Given the description of an element on the screen output the (x, y) to click on. 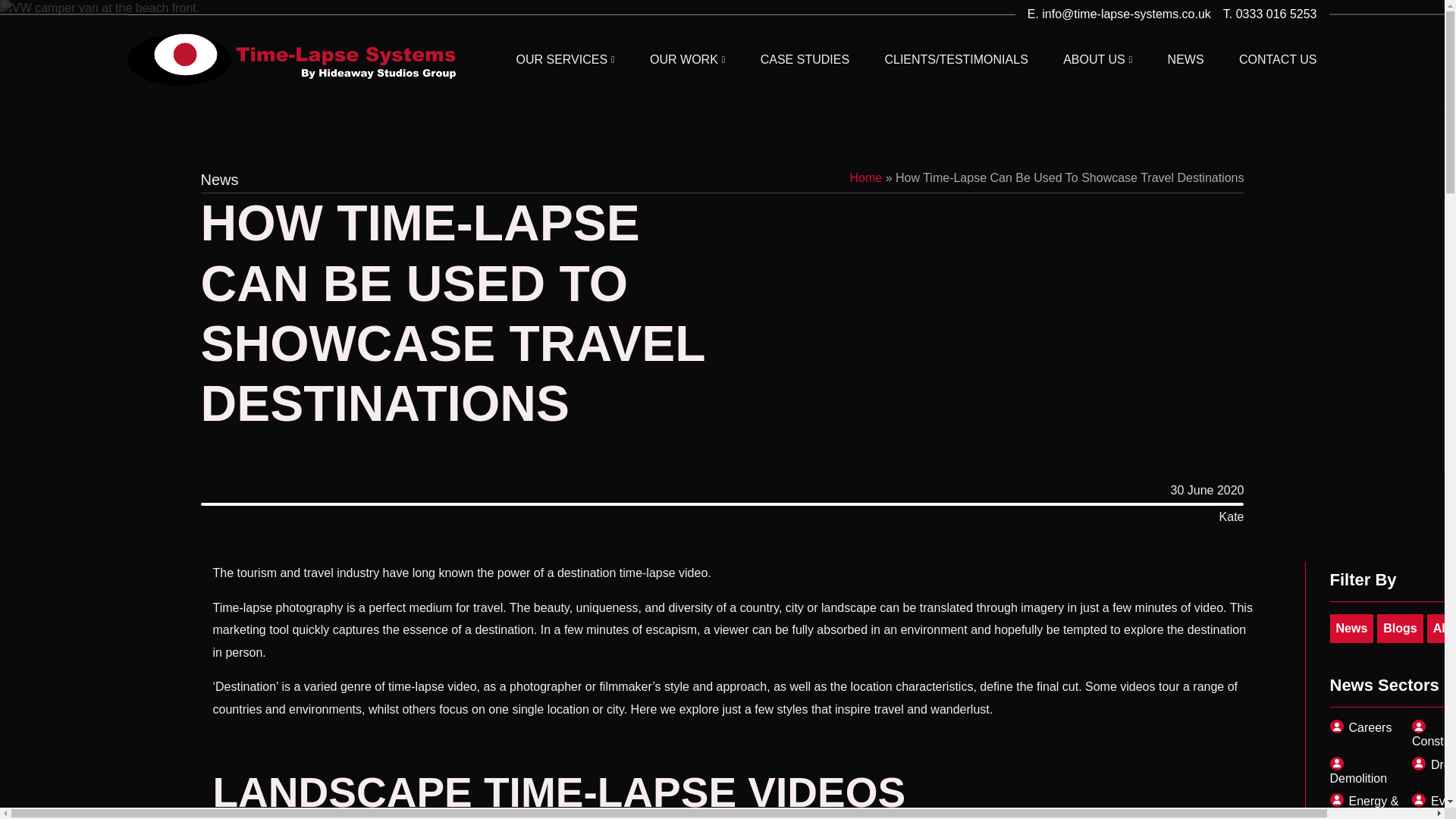
OUR WORK (687, 60)
OUR SERVICES (564, 60)
T. 0333 016 5253 (1264, 13)
Time Lapse Systems by Hideaway Studios Group (291, 59)
Blogs (1399, 628)
ABOUT US (1097, 60)
News (1352, 628)
0333 016 5253 (1264, 13)
NEWS (1185, 60)
CASE STUDIES (804, 60)
CONTACT US (1278, 60)
